Given the description of an element on the screen output the (x, y) to click on. 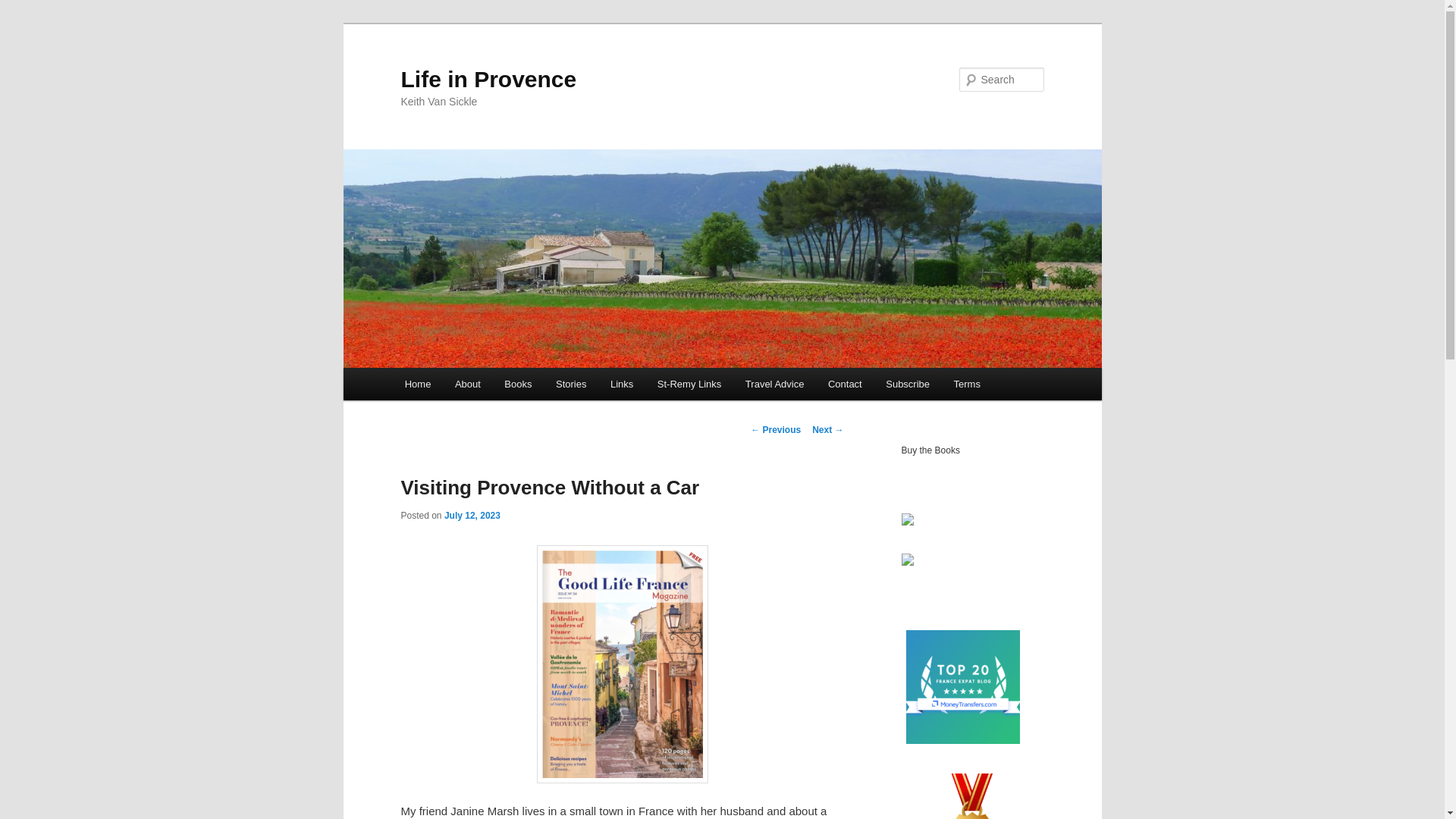
Travel Advice (774, 383)
11:30 pm (472, 515)
Terms (967, 383)
Subscribe (906, 383)
Search (24, 8)
St-Remy Links (689, 383)
Contact (844, 383)
July 12, 2023 (472, 515)
About (467, 383)
Life in Provence (488, 78)
Books (518, 383)
Links (621, 383)
Home (417, 383)
Stories (570, 383)
